Given the description of an element on the screen output the (x, y) to click on. 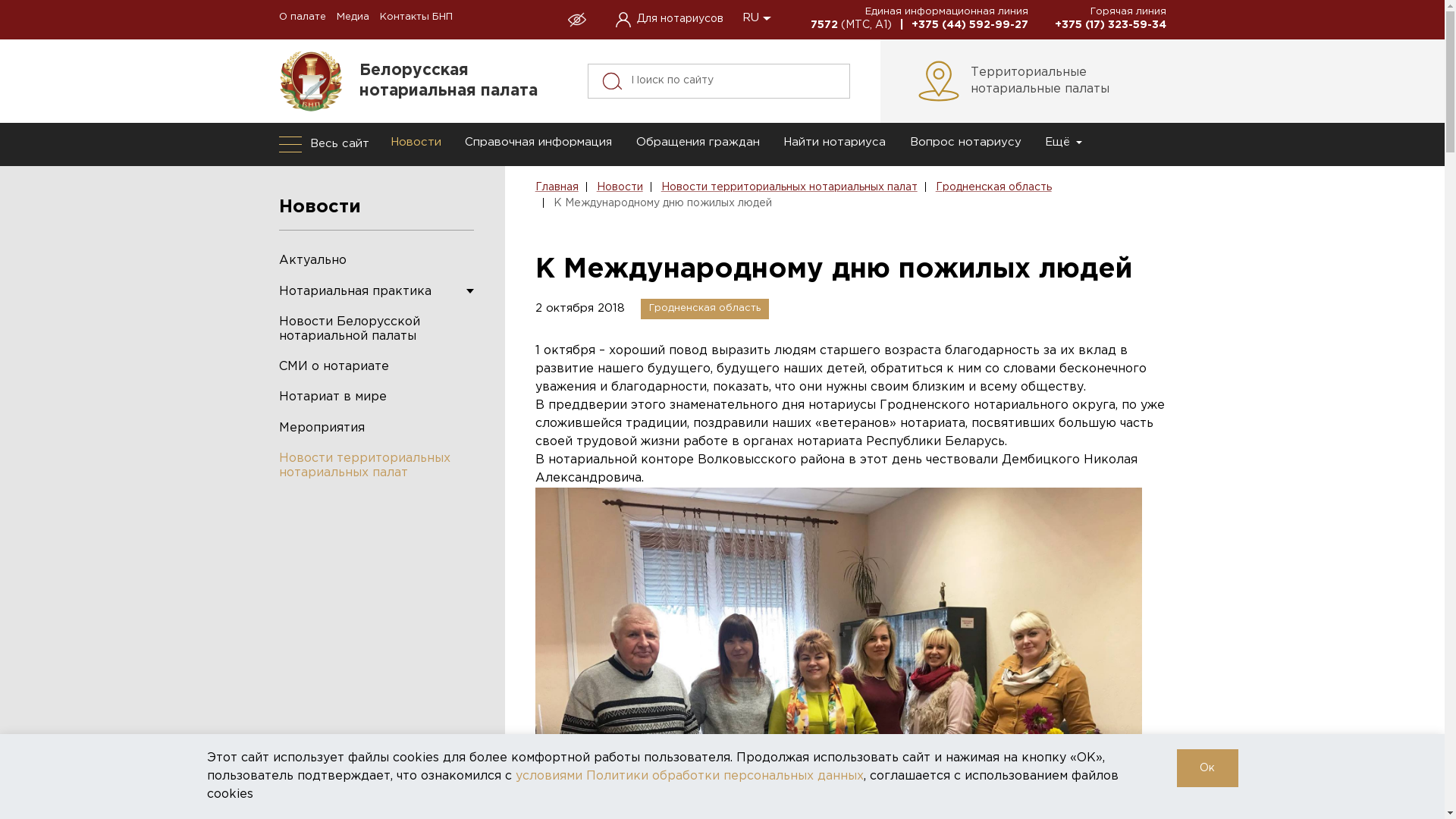
+375 (44) 592-99-27 Element type: text (969, 24)
+375 (17) 323-59-34 Element type: text (1109, 24)
RU Element type: text (759, 18)
